Given the description of an element on the screen output the (x, y) to click on. 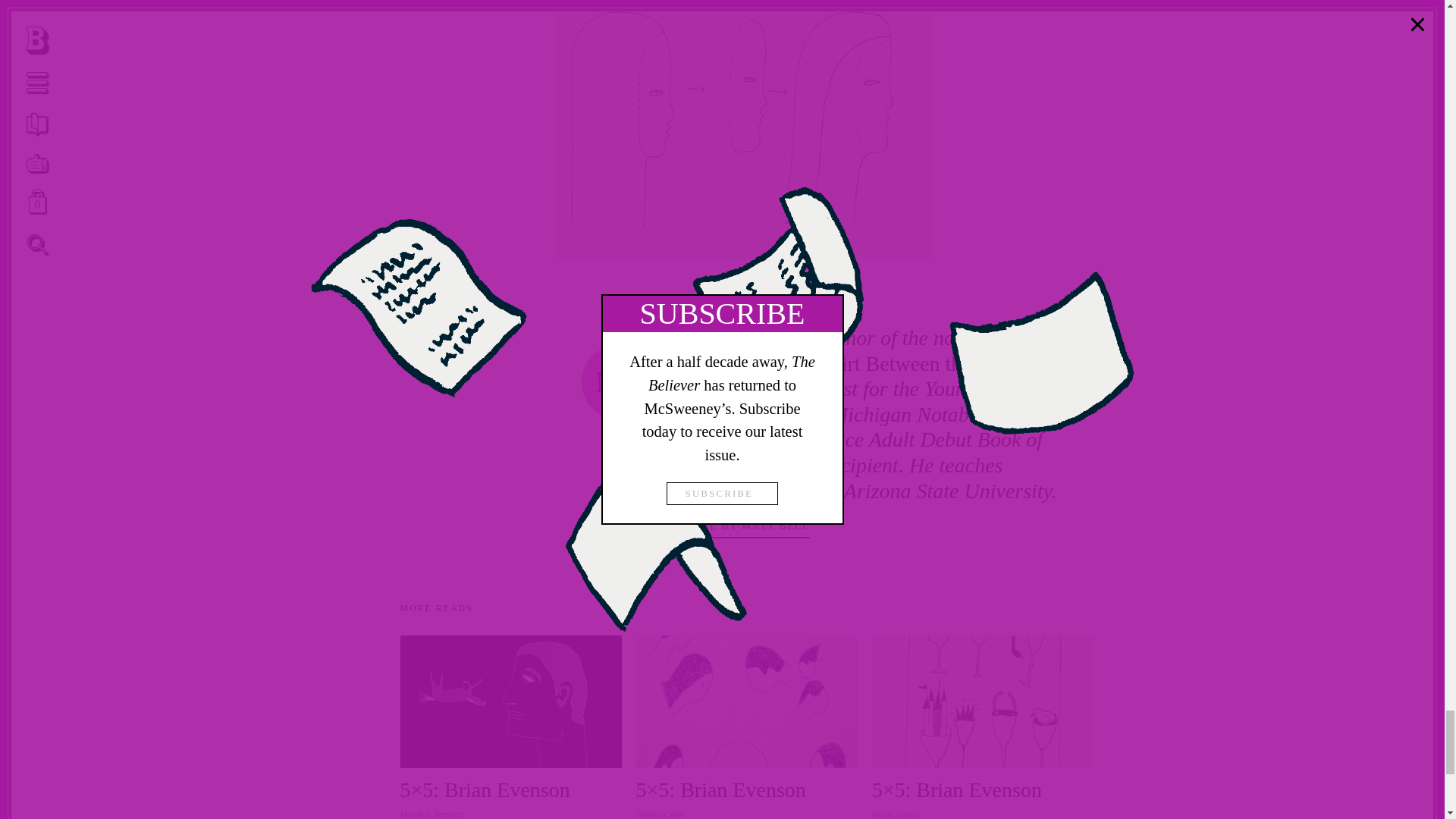
MB (618, 381)
